Given the description of an element on the screen output the (x, y) to click on. 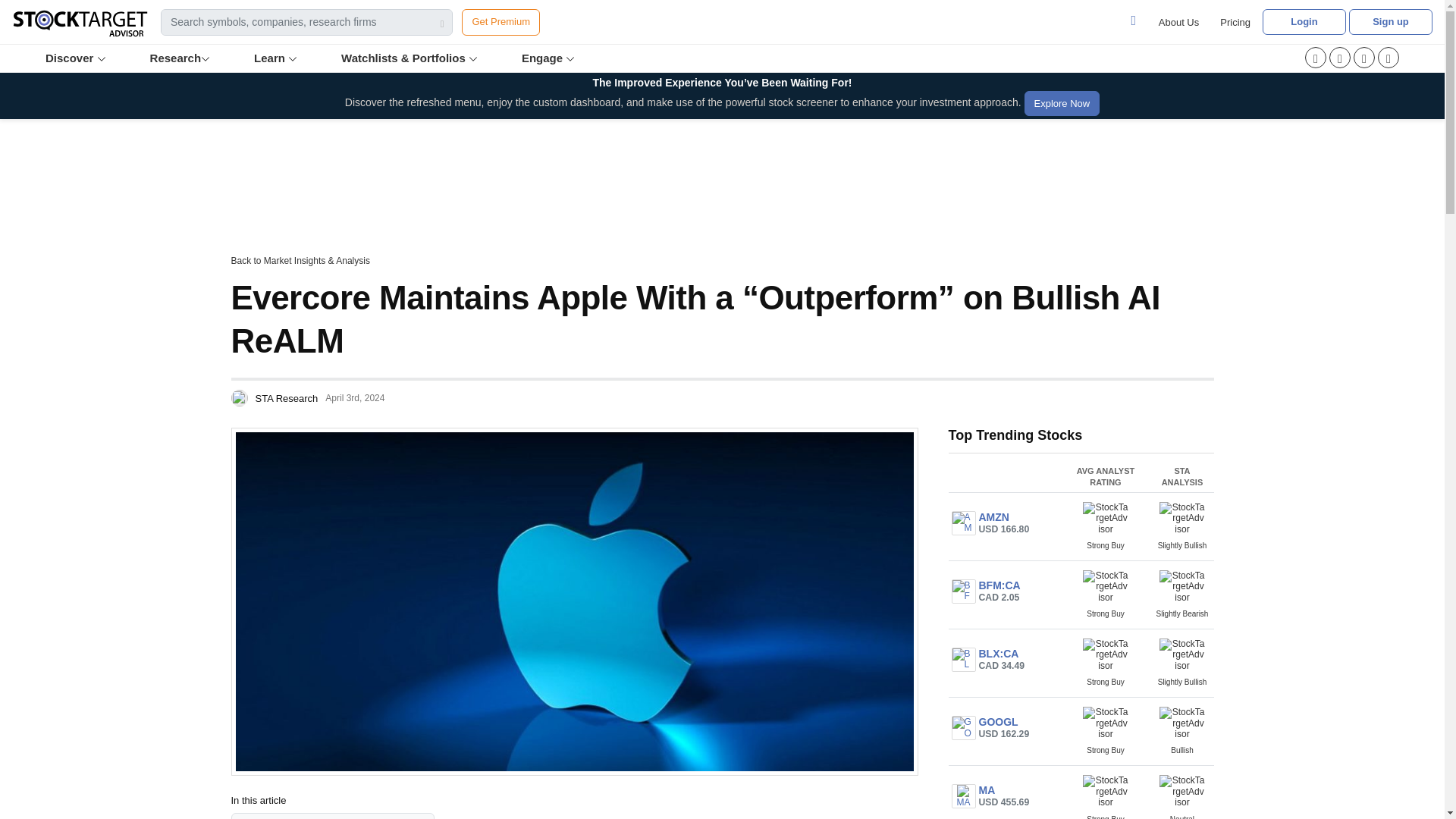
Learn (275, 58)
Get Premium (500, 22)
BLX:CA (963, 659)
Type name or symbol of a security to search (306, 22)
StockTargetAdvisor (1181, 518)
About Us (1179, 22)
Research (181, 58)
BFM:CA (963, 590)
GOOGL (963, 727)
StockTargetAdvisor (1105, 518)
